Given the description of an element on the screen output the (x, y) to click on. 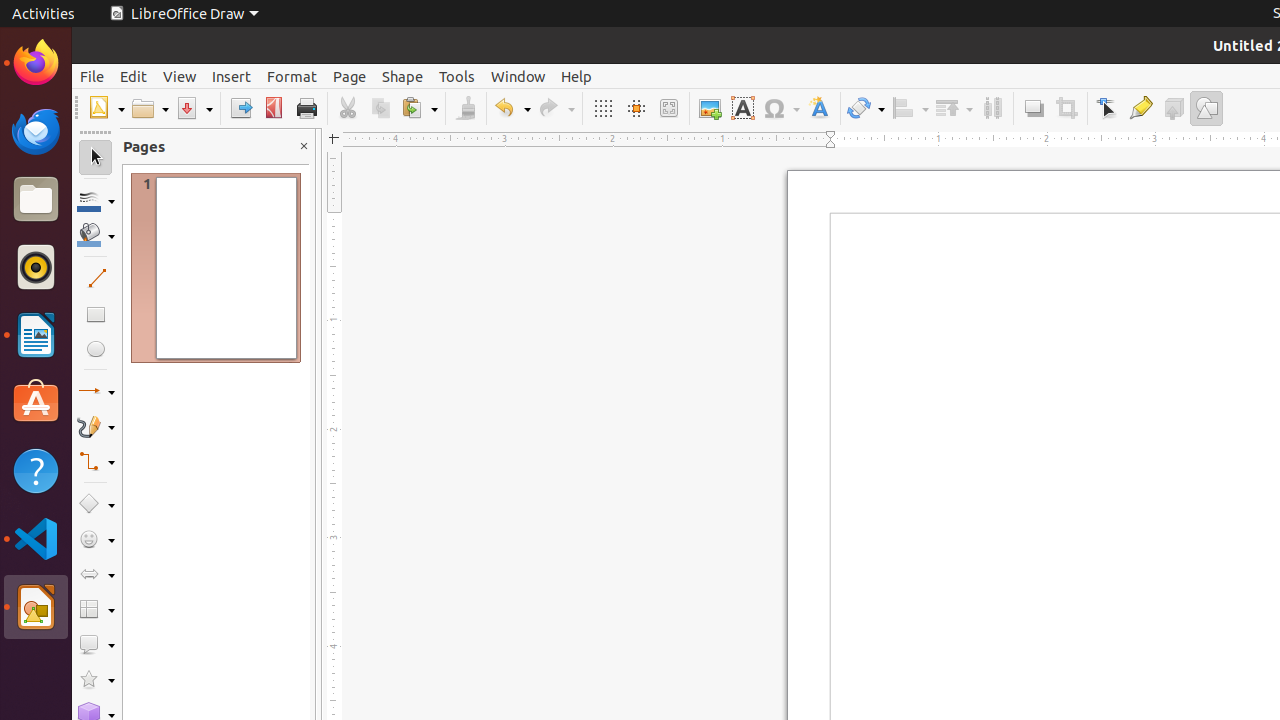
Image Element type: push-button (709, 108)
Toggle Extrusion Element type: push-button (1173, 108)
Undo Element type: push-button (512, 108)
LibreOffice Writer Element type: push-button (36, 334)
Ubuntu Software Element type: push-button (36, 402)
